Given the description of an element on the screen output the (x, y) to click on. 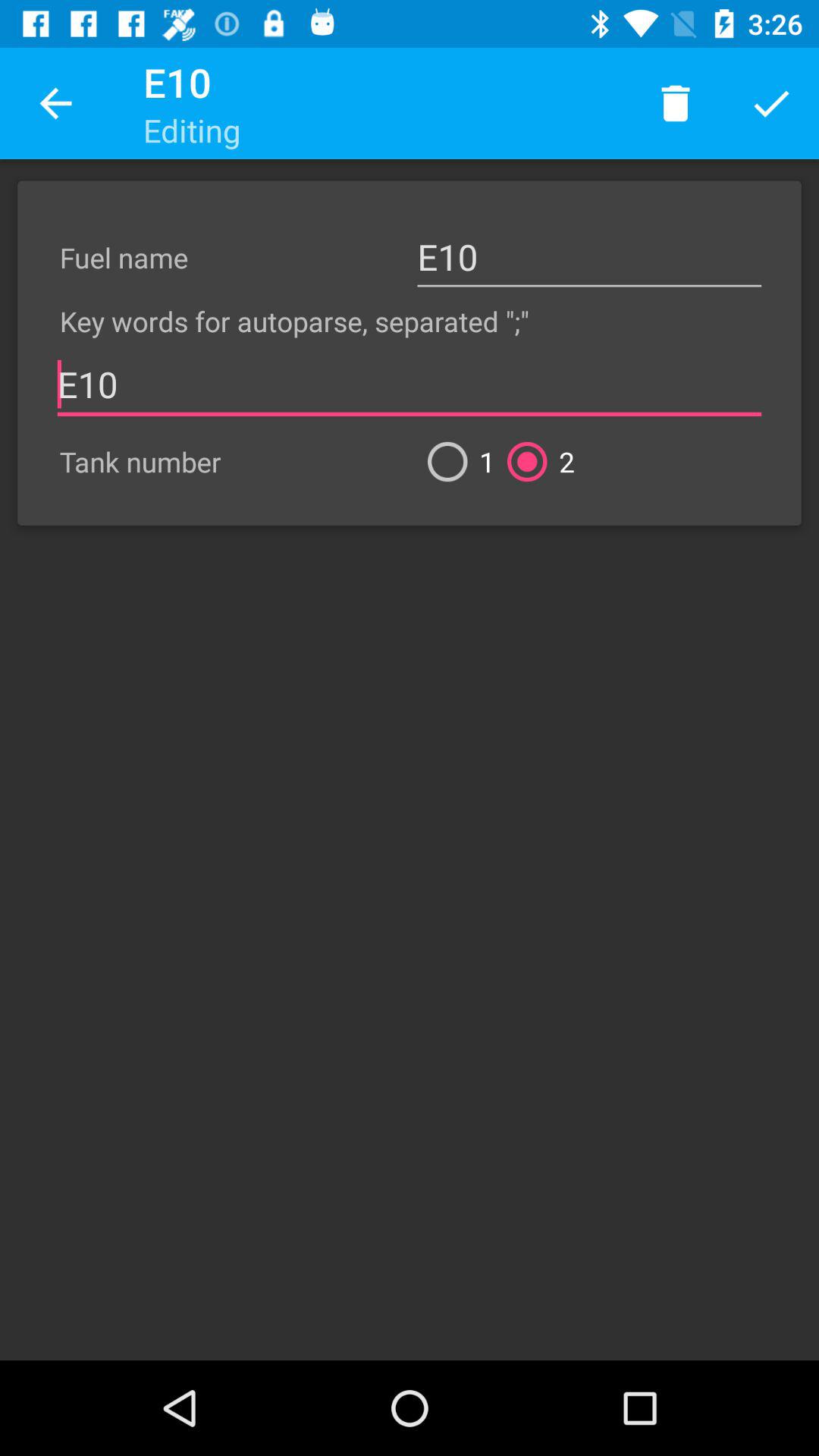
turn on item to the left of the 2 item (455, 461)
